Given the description of an element on the screen output the (x, y) to click on. 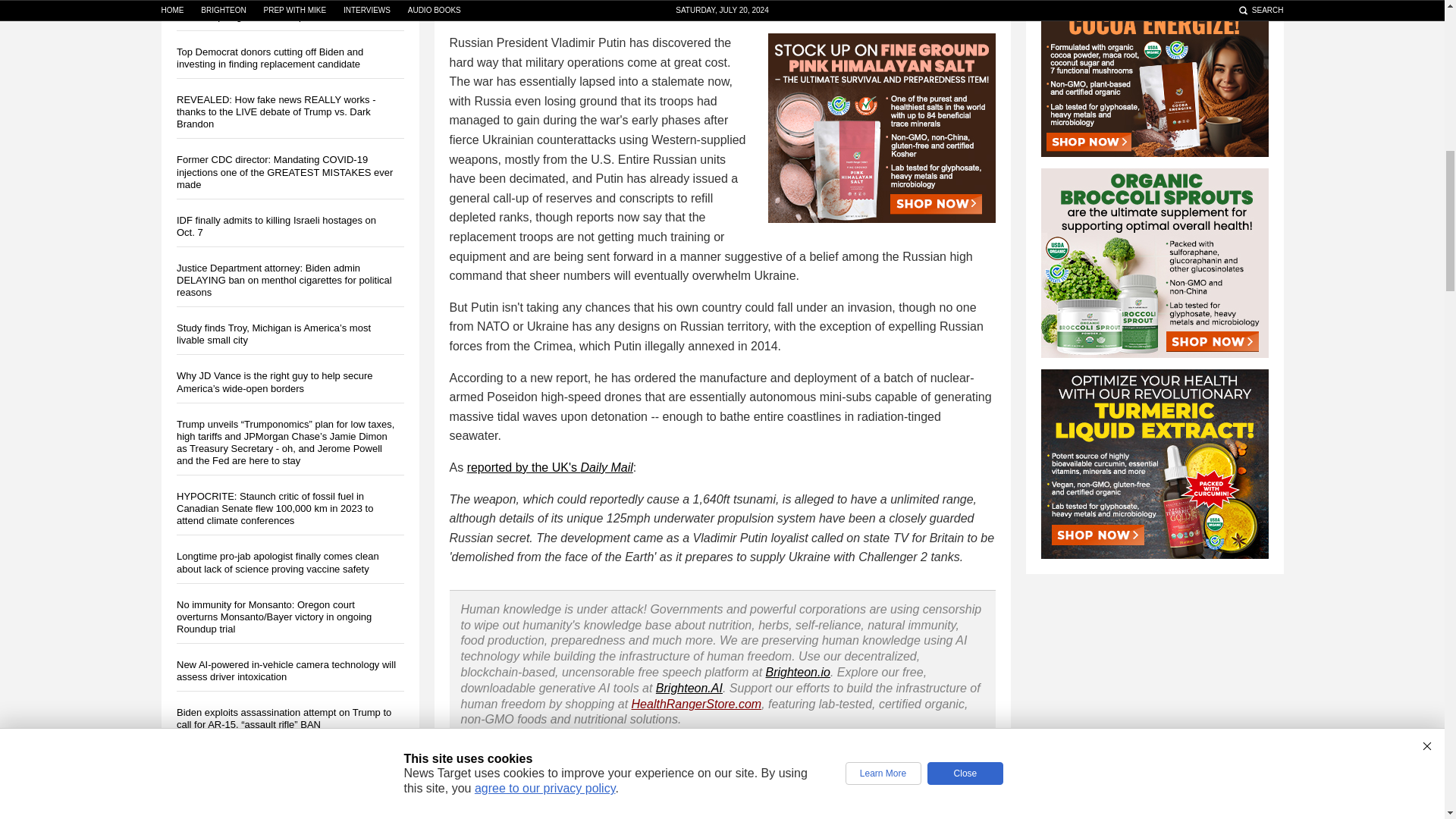
RFK Jr. apologizes for Trump leak (250, 16)
IDF finally admits to killing Israeli hostages on Oct. 7 (275, 226)
